Given the description of an element on the screen output the (x, y) to click on. 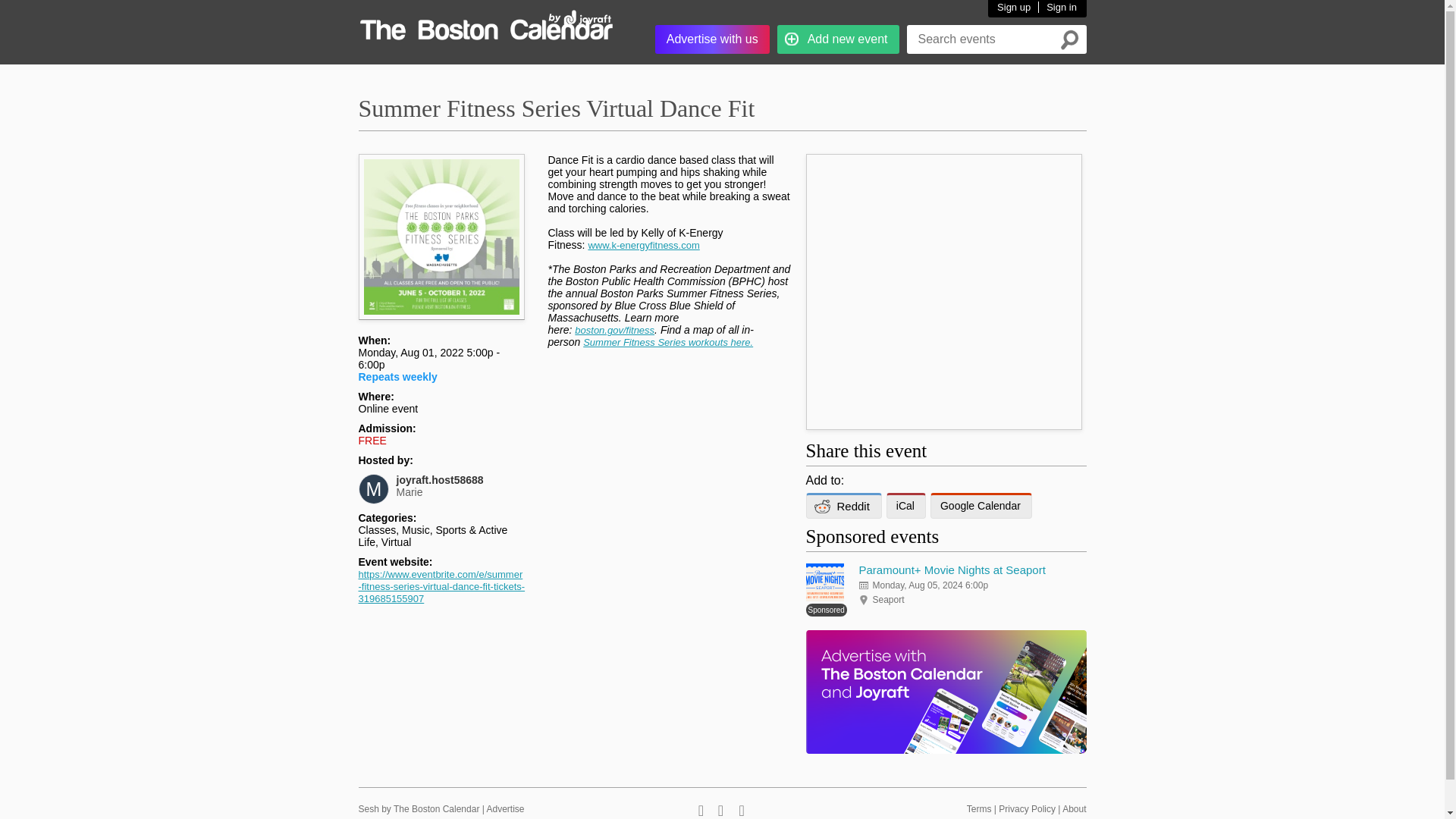
Sign in (1057, 7)
Zoom in (436, 219)
About (1074, 808)
Search (1069, 39)
Sesh by The Boston Calendar (460, 485)
BostonCalendar.com (418, 808)
Advertise with us (485, 27)
Advertise (712, 39)
Add new event (505, 808)
Sign up (838, 39)
www.k-energyfitness.com (1013, 7)
Summer Fitness Series workouts here. (643, 244)
Search (667, 342)
Reddit (1069, 39)
